Given the description of an element on the screen output the (x, y) to click on. 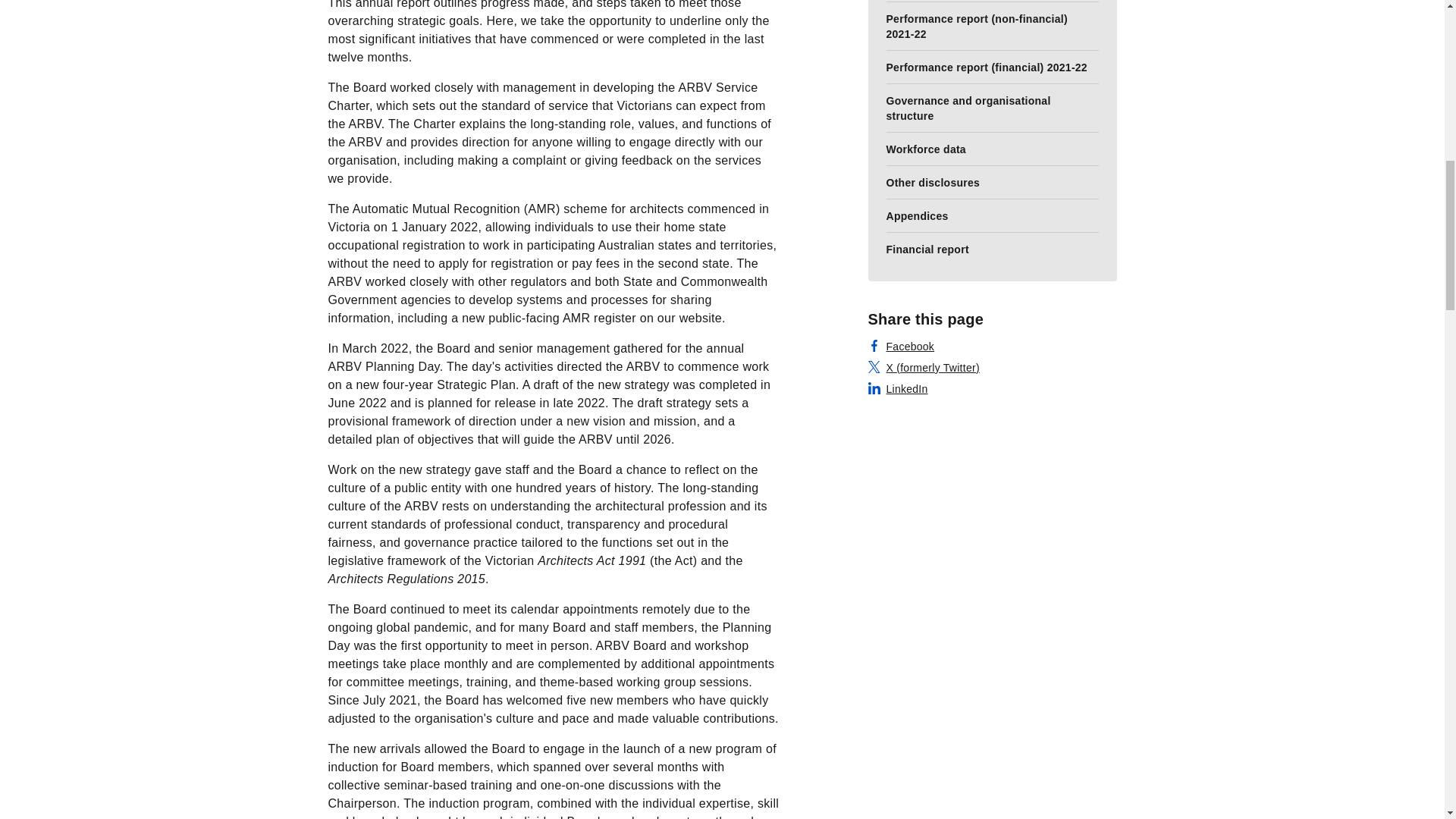
LinkedIn (897, 387)
Appendices (991, 215)
Governance and organisational structure (991, 107)
Facebook (900, 345)
Other disclosures (991, 182)
Financial report (991, 248)
Workforce data (991, 148)
